Given the description of an element on the screen output the (x, y) to click on. 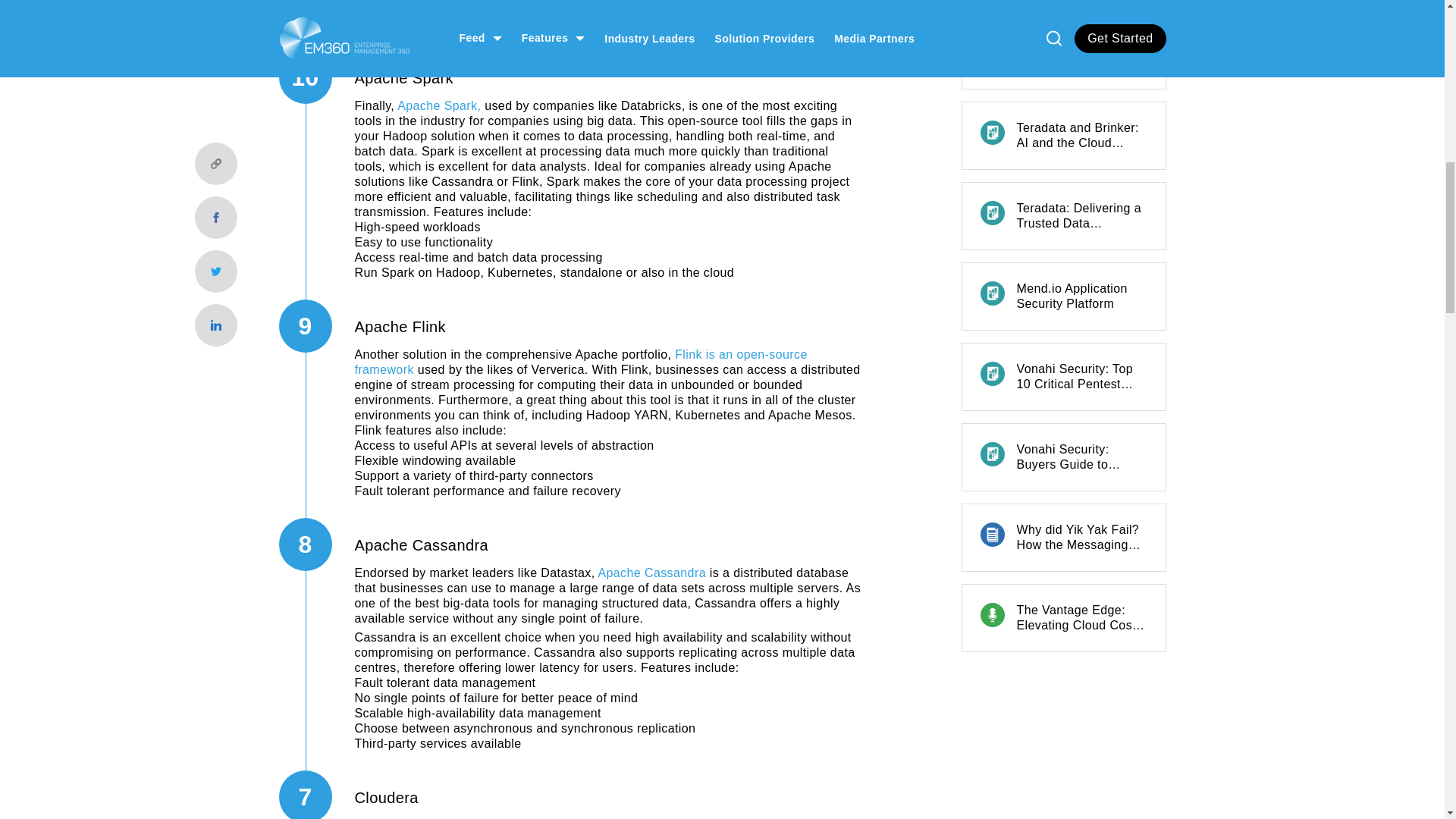
Apache Spark, (438, 105)
Apache Cassandra (651, 572)
Flink is an open-source framework (581, 361)
